Given the description of an element on the screen output the (x, y) to click on. 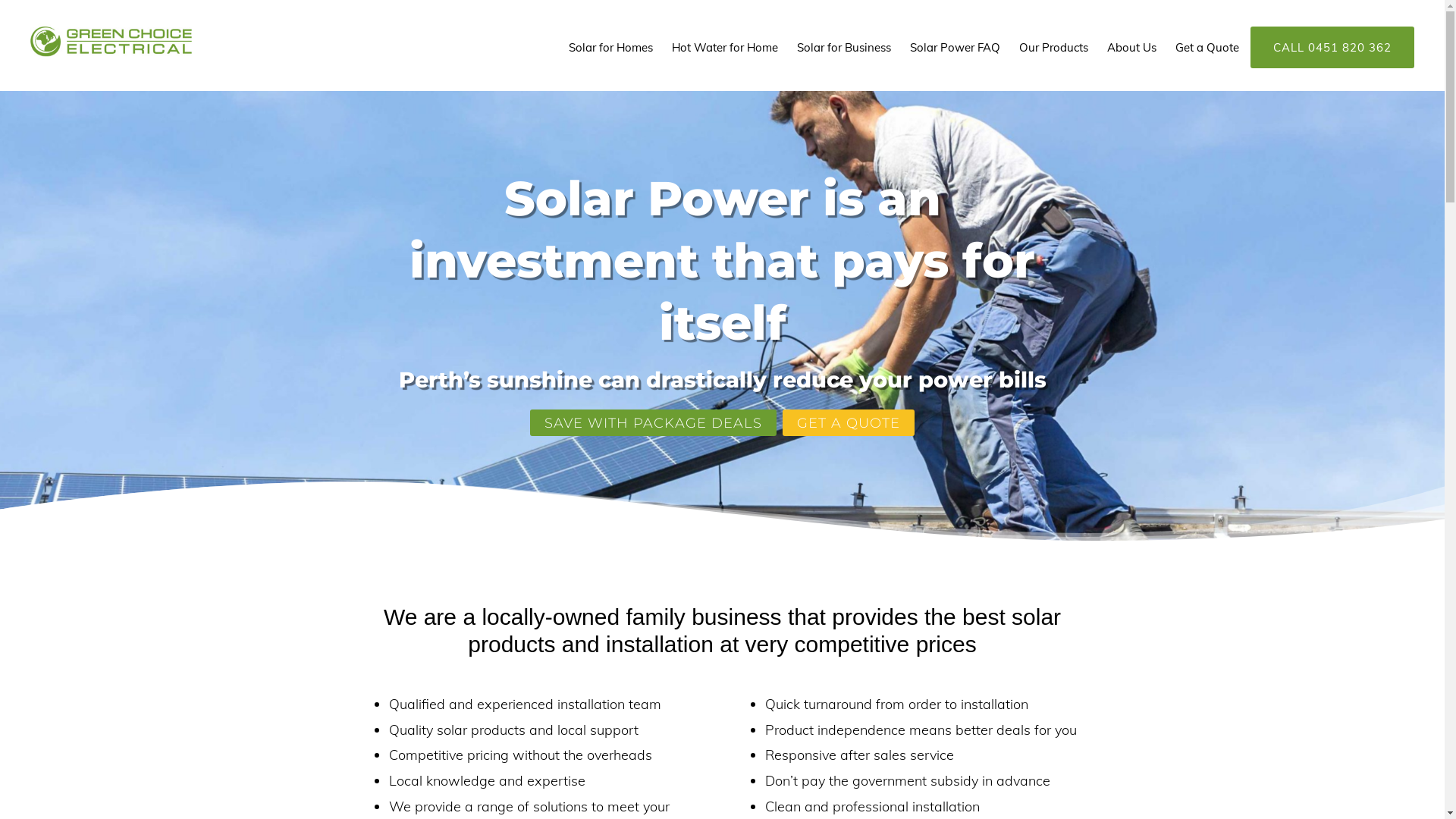
Solar for Homes Element type: text (610, 47)
CALL 0451 820 362 Element type: text (1332, 47)
About Us Element type: text (1131, 47)
Hot Water for Home Element type: text (724, 47)
Our Products Element type: text (1053, 47)
Skip to primary navigation Element type: text (0, 0)
Solar Power FAQ Element type: text (954, 47)
SAVE WITH PACKAGE DEALS Element type: text (653, 422)
Solar for Business Element type: text (843, 47)
Get a Quote Element type: text (1206, 47)
GET A QUOTE Element type: text (848, 422)
WordPress Website by Oracle Digital Marketing Element type: text (824, 783)
